Given the description of an element on the screen output the (x, y) to click on. 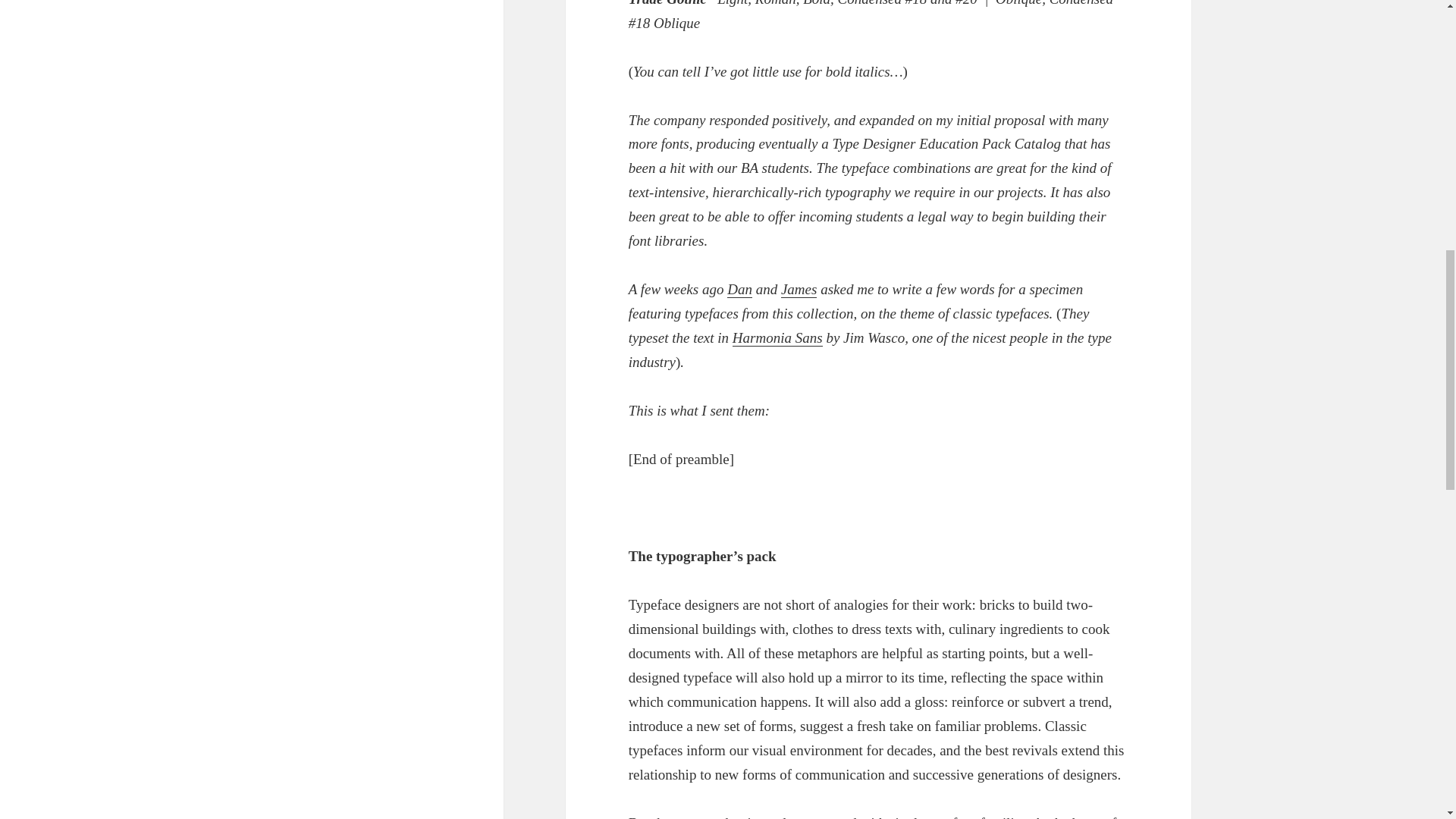
Harmonia Sans (777, 338)
Harmonia Sans (777, 338)
Ultrasparky (739, 289)
James Fooks-Bale on Twitter (798, 289)
James (798, 289)
Dan (739, 289)
